Given the description of an element on the screen output the (x, y) to click on. 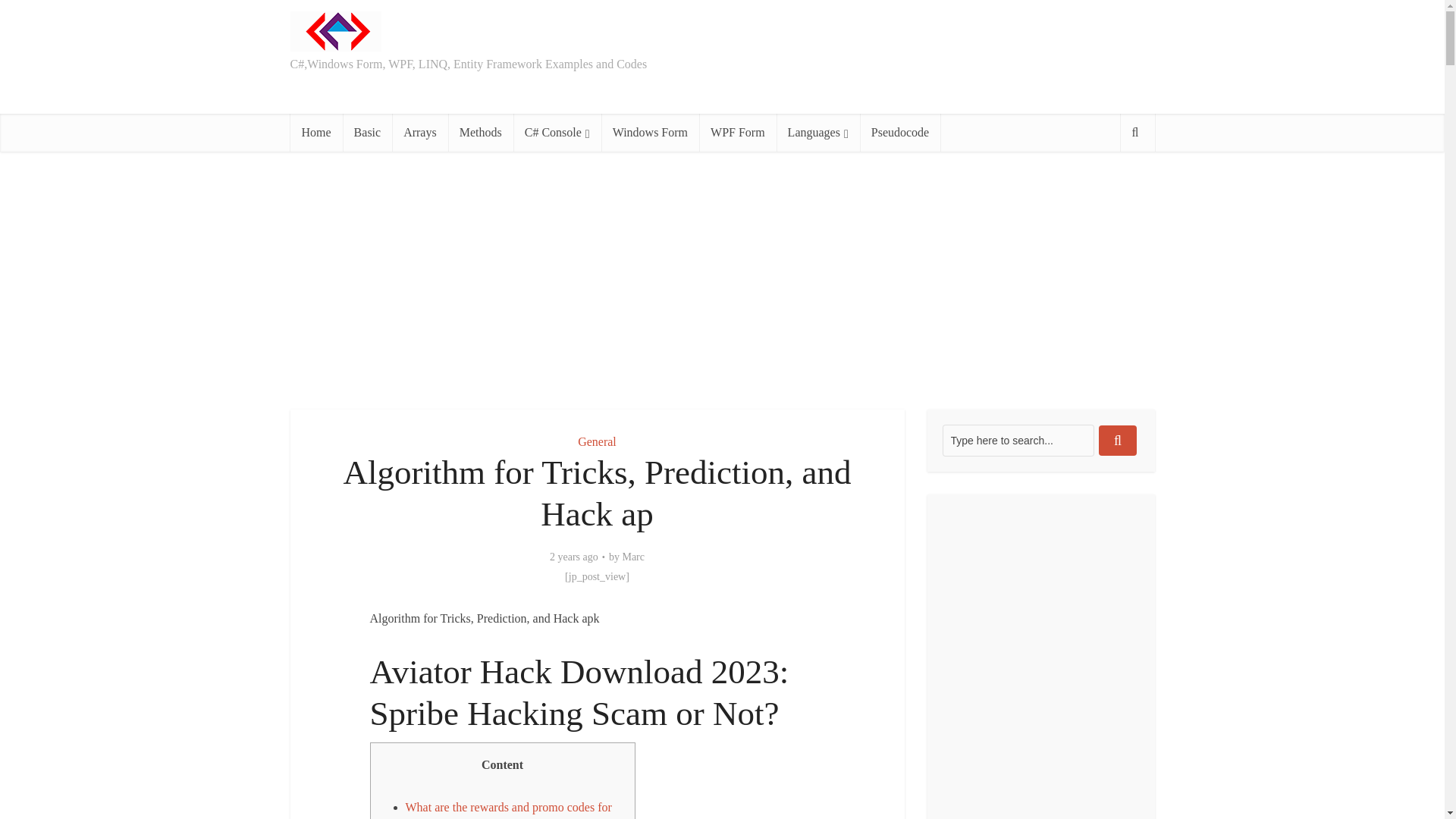
General (596, 440)
Windows Form (649, 132)
Home (315, 132)
Marc (633, 557)
WPF Form (737, 132)
Languages (818, 132)
Arrays (419, 132)
Basic (367, 132)
Type here to search... (1017, 440)
Advertisement (721, 280)
Type here to search... (1017, 440)
Pseudocode (900, 132)
Methods (480, 132)
